Given the description of an element on the screen output the (x, y) to click on. 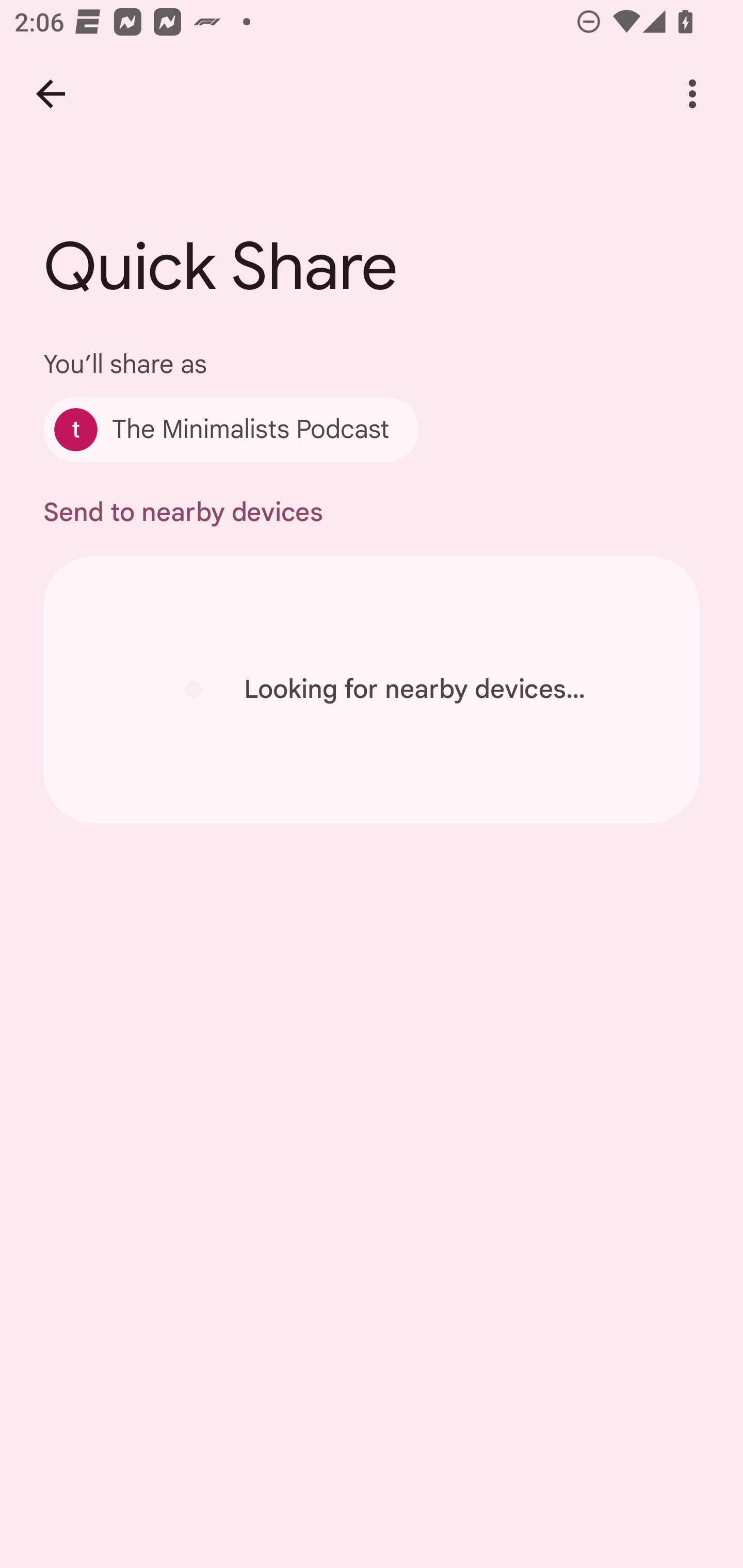
Back (50, 93)
More (692, 93)
The Minimalists Podcast (231, 429)
